Given the description of an element on the screen output the (x, y) to click on. 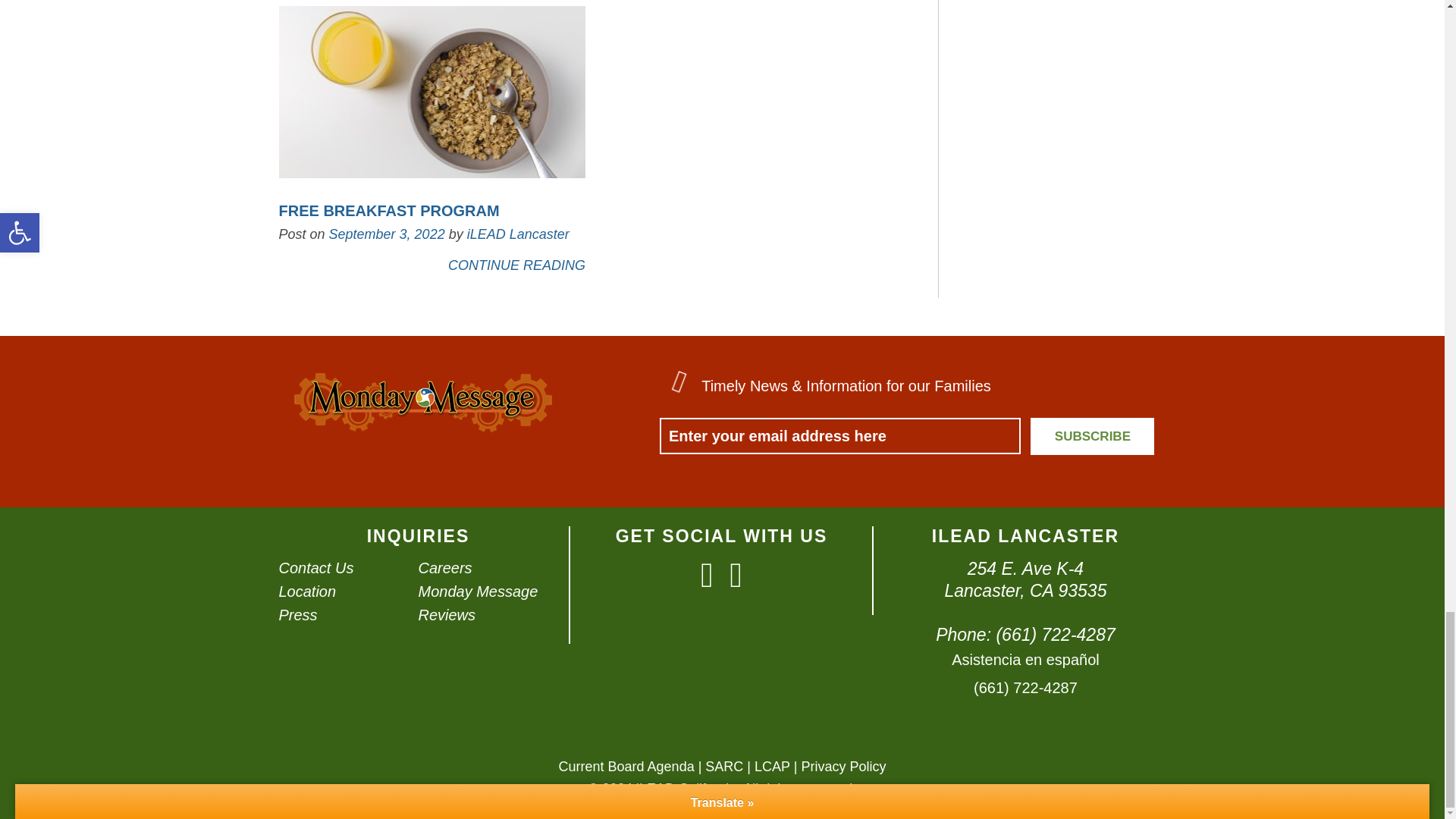
Subscribe (1092, 436)
